Given the description of an element on the screen output the (x, y) to click on. 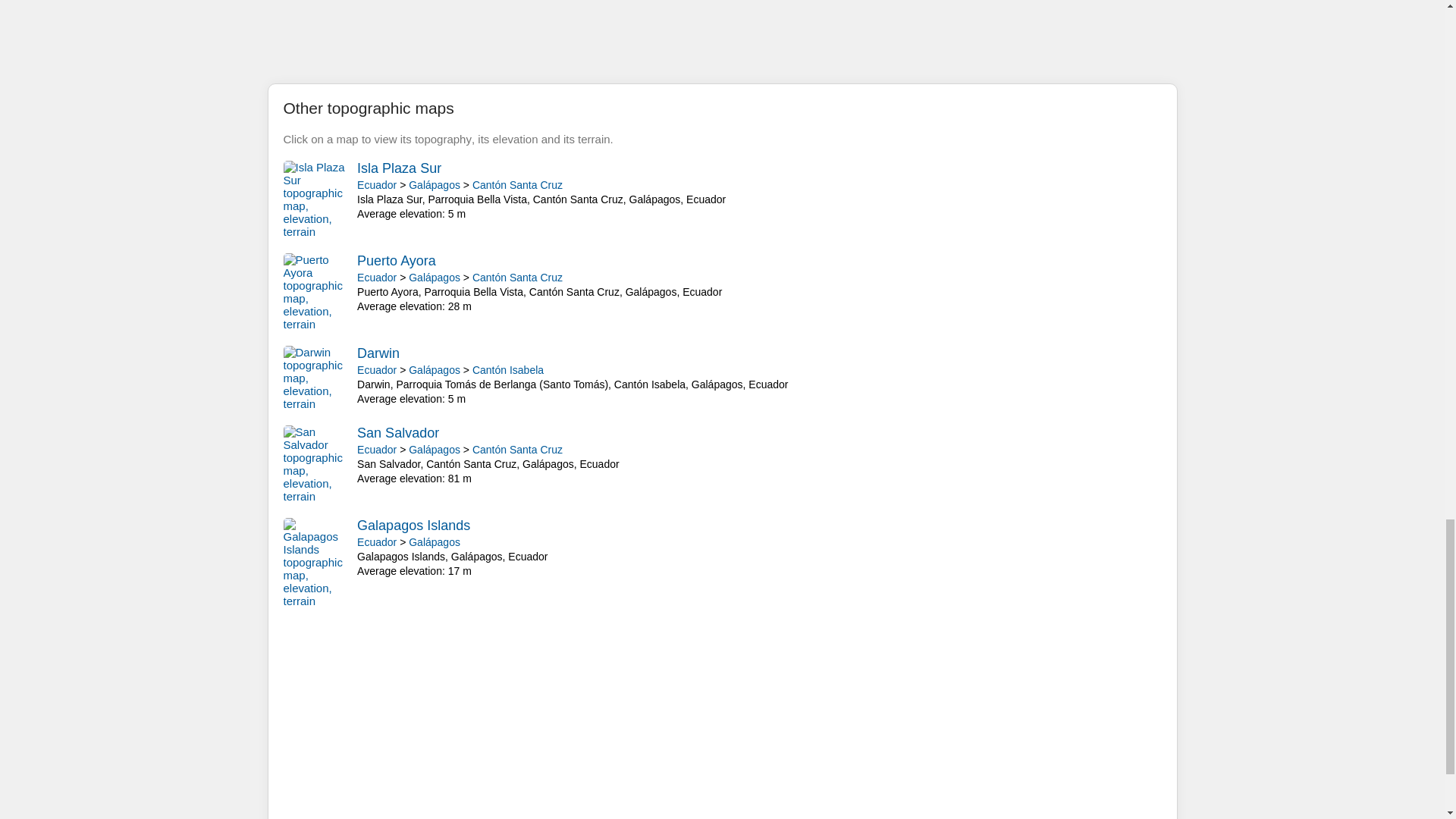
Ecuador (376, 369)
Puerto Ayora (395, 260)
San Salvador (397, 432)
Galapagos Islands (413, 525)
Ecuador (376, 541)
Ecuador (376, 277)
Darwin (377, 353)
Darwin topographic map, elevation, terrain (316, 377)
Isla Plaza Sur (398, 168)
Ecuador (376, 184)
